Given the description of an element on the screen output the (x, y) to click on. 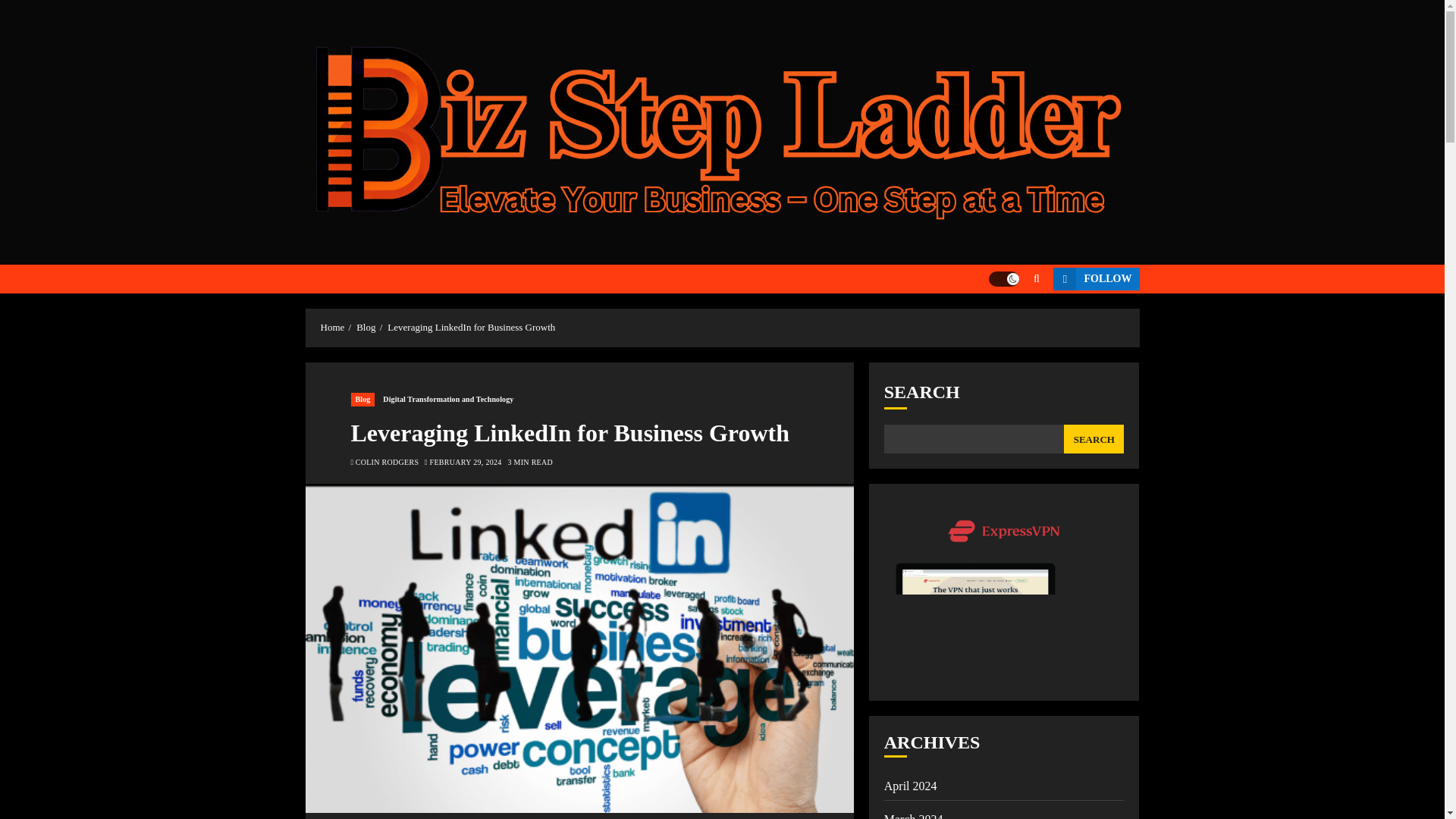
FOLLOW (1095, 278)
Home (331, 327)
Digital Transformation and Technology (448, 399)
Leveraging LinkedIn for Business Growth (470, 327)
Blog (365, 327)
FEBRUARY 29, 2024 (465, 462)
Blog (362, 399)
Search (1006, 325)
COLIN RODGERS (387, 462)
